Given the description of an element on the screen output the (x, y) to click on. 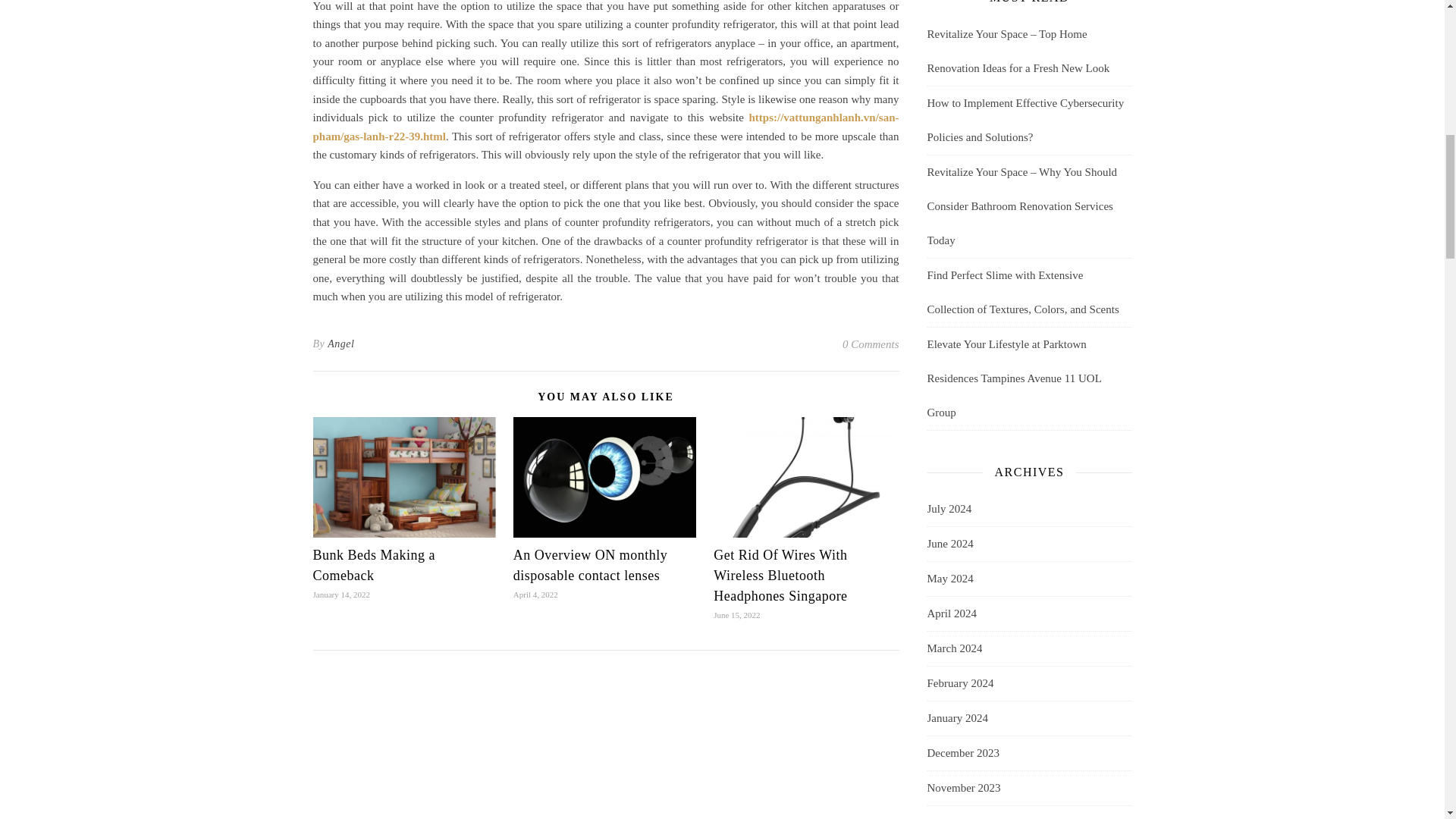
Posts by Angel (340, 343)
